Given the description of an element on the screen output the (x, y) to click on. 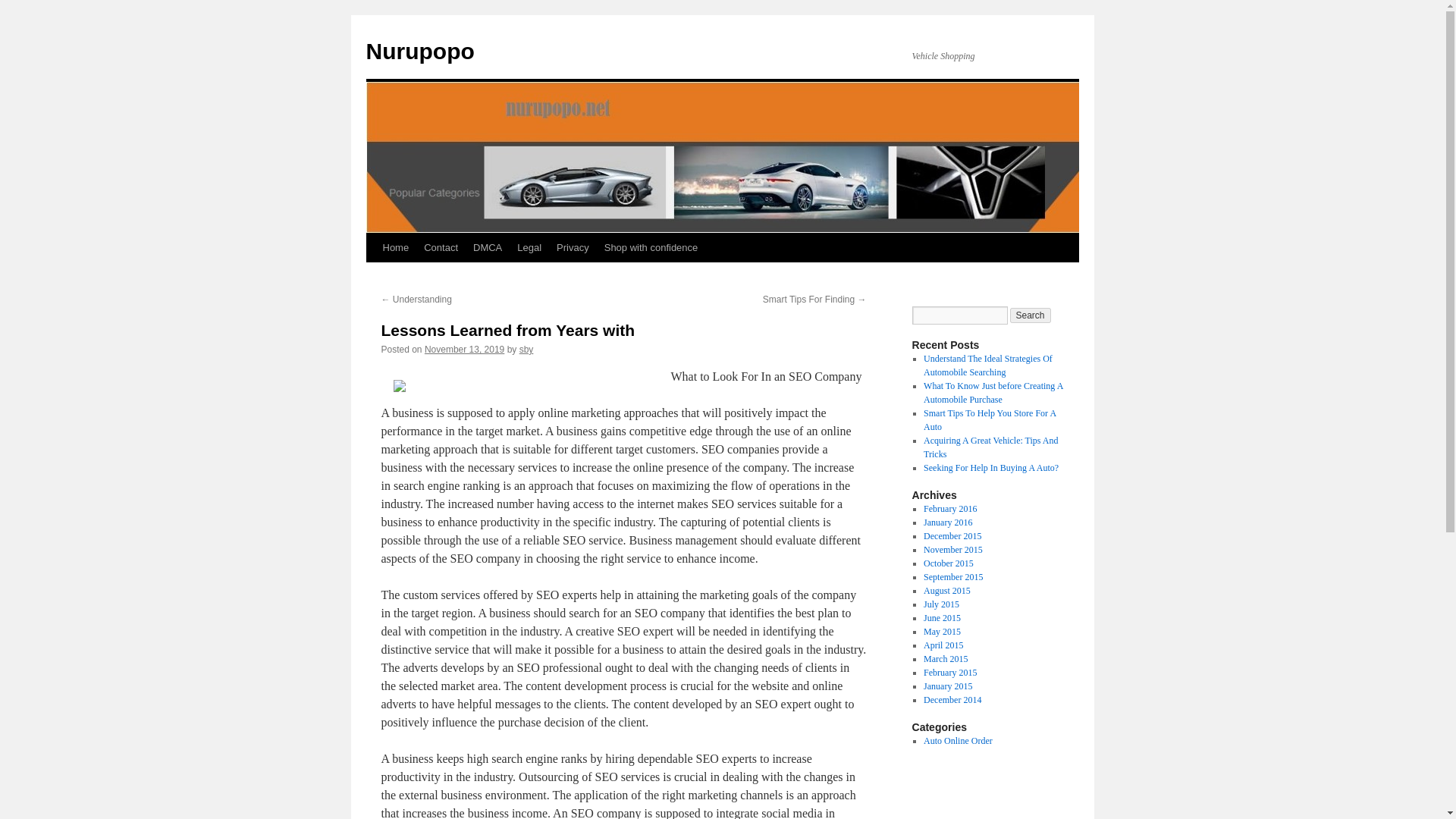
Home (395, 247)
Acquiring A Great Vehicle: Tips And Tricks (990, 446)
May 2015 (941, 631)
November 2015 (952, 549)
Legal (528, 247)
February 2016 (949, 508)
5:01 pm (464, 348)
December 2015 (952, 535)
Auto Online Order (957, 740)
Seeking For Help In Buying A Auto? (990, 467)
Smart Tips To Help You Store For A Auto (989, 419)
Contact (440, 247)
Shop with confidence (651, 247)
December 2014 (952, 699)
January 2016 (947, 521)
